Given the description of an element on the screen output the (x, y) to click on. 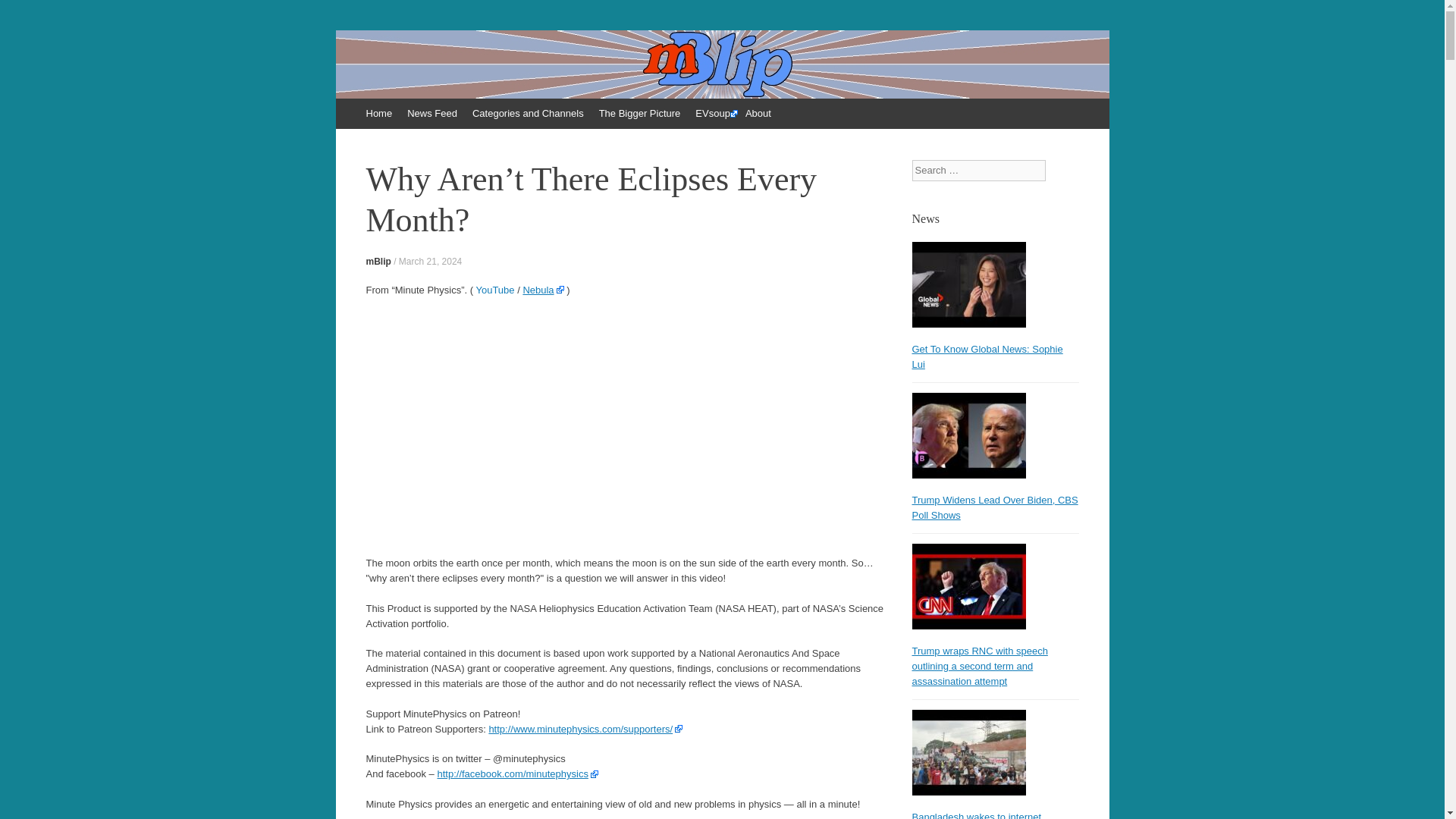
EVsoup (712, 113)
Skip to content (342, 105)
Search (23, 15)
Home (378, 113)
YouTube (494, 288)
Nebula (542, 288)
Get To Know Global News: Sophie Lui (986, 356)
mBlip (397, 80)
mBlip (397, 80)
March 21, 2024 (429, 261)
News Feed (431, 113)
Categories and Channels (527, 113)
mBlip (377, 261)
The Bigger Picture (639, 113)
